Given the description of an element on the screen output the (x, y) to click on. 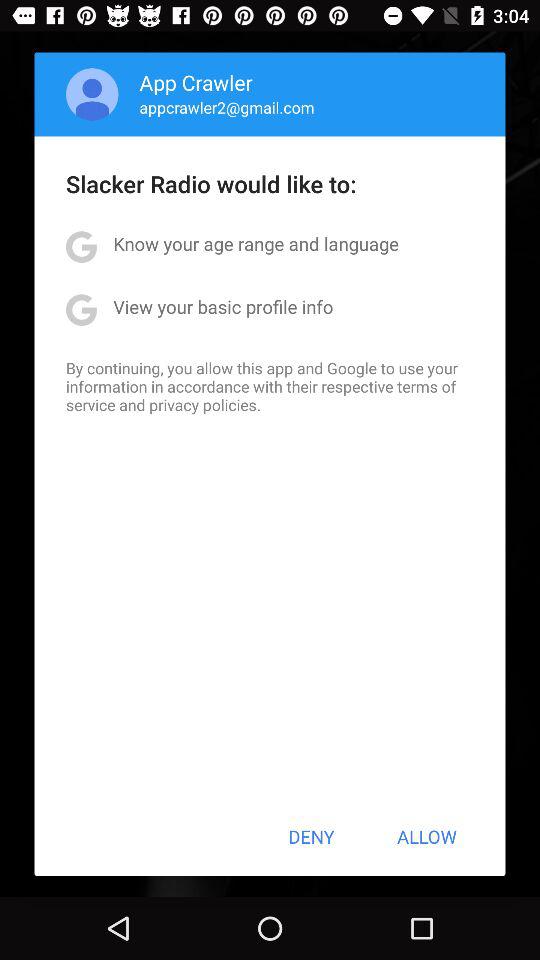
turn off the item above slacker radio would (226, 107)
